Given the description of an element on the screen output the (x, y) to click on. 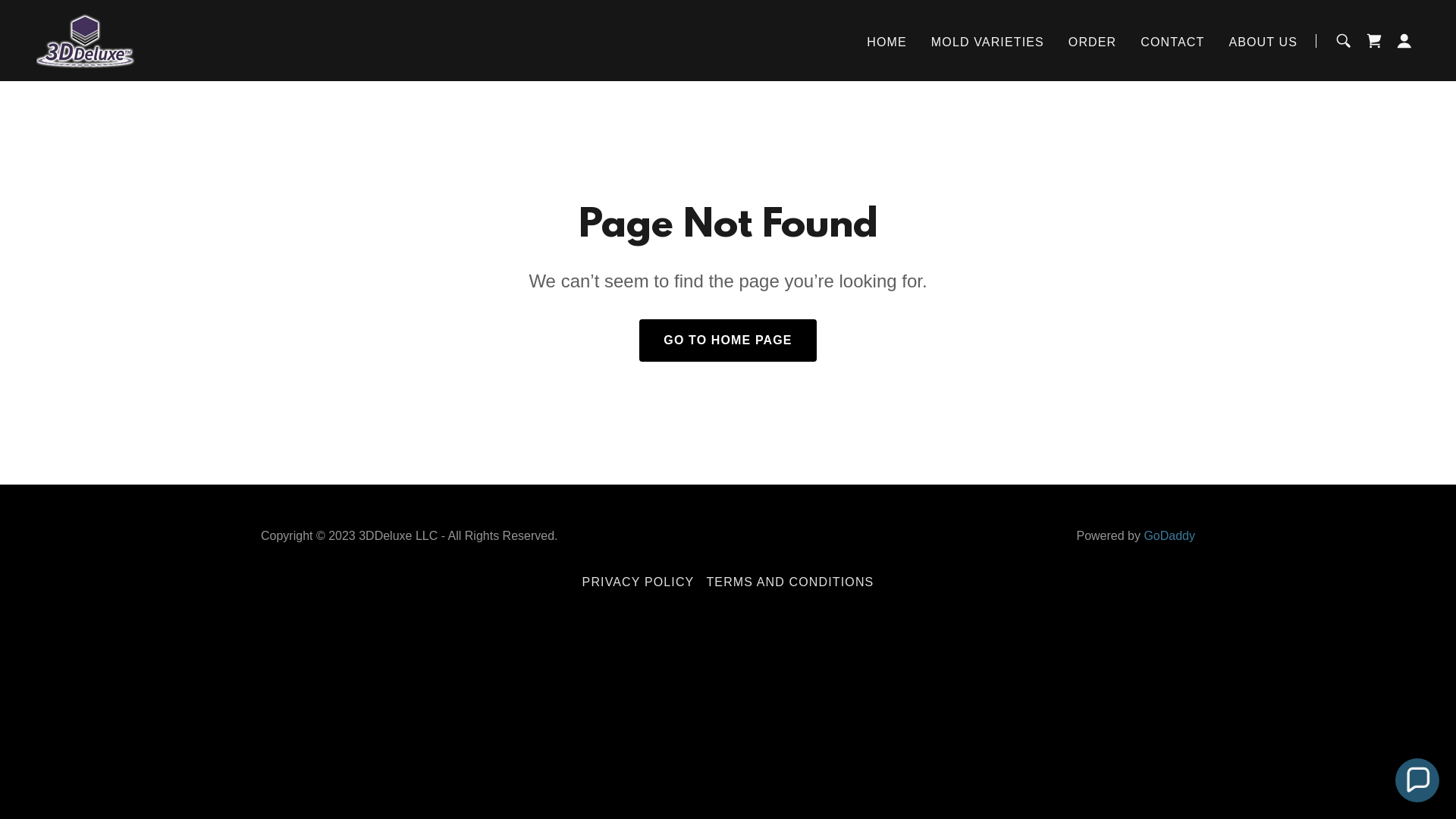
3DDeluxe Element type: hover (85, 39)
TERMS AND CONDITIONS Element type: text (789, 582)
MOLD VARIETIES Element type: text (987, 42)
CONTACT Element type: text (1171, 42)
HOME Element type: text (886, 42)
ABOUT US Element type: text (1262, 42)
PRIVACY POLICY Element type: text (638, 582)
GO TO HOME PAGE Element type: text (727, 340)
GoDaddy Element type: text (1169, 535)
ORDER Element type: text (1091, 42)
